Given the description of an element on the screen output the (x, y) to click on. 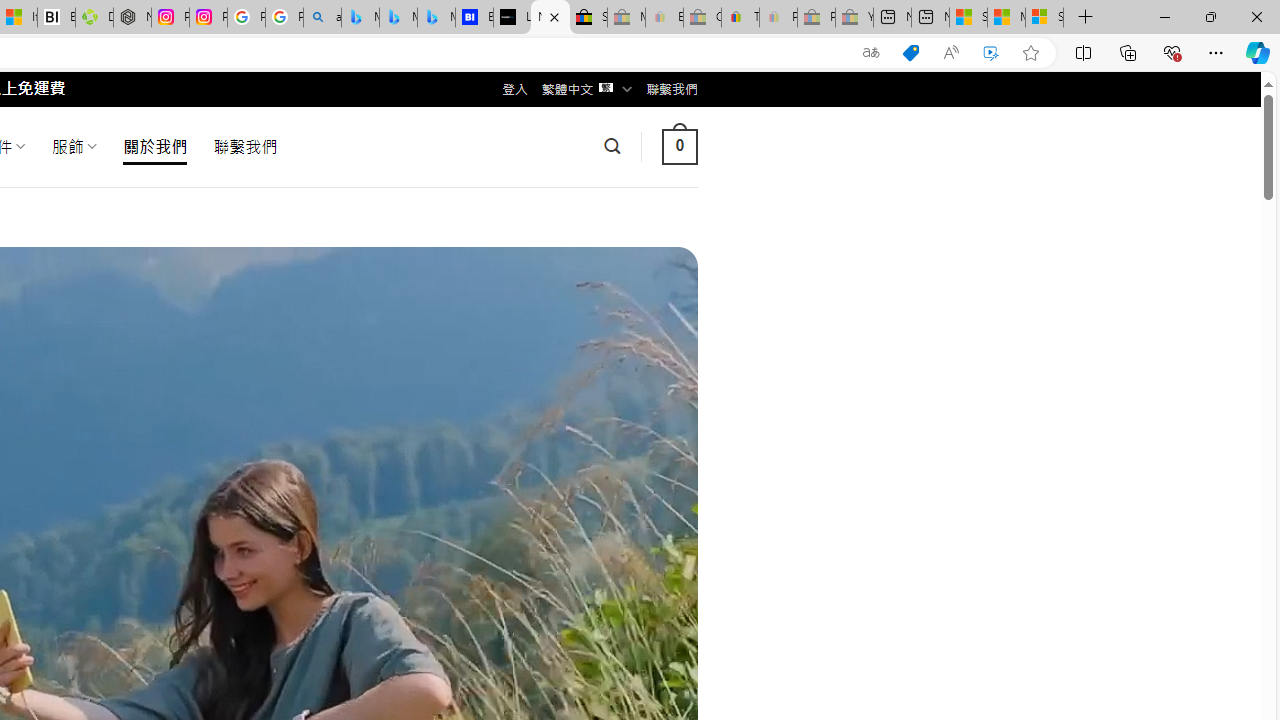
Microsoft Bing Travel - Flights from Hong Kong to Bangkok (359, 17)
 0  (679, 146)
